Given the description of an element on the screen output the (x, y) to click on. 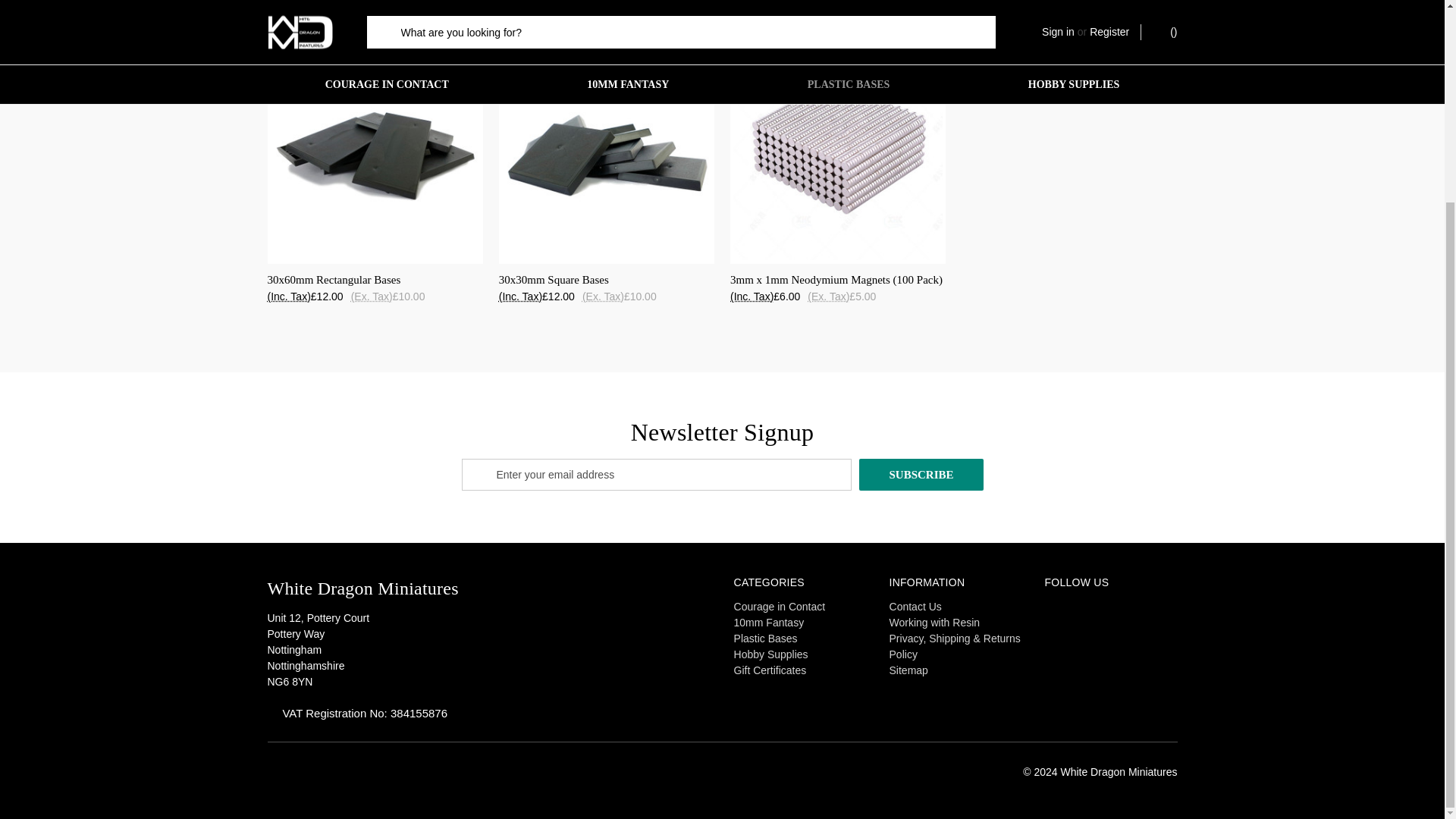
Subscribe (920, 474)
30x30mm Square Bases (606, 155)
Excluding Tax (828, 296)
Including Tax (520, 296)
Excluding Tax (371, 296)
Including Tax (751, 296)
Excluding Tax (603, 296)
Including Tax (288, 296)
30x60mm Rectangular Bases (374, 155)
